Given the description of an element on the screen output the (x, y) to click on. 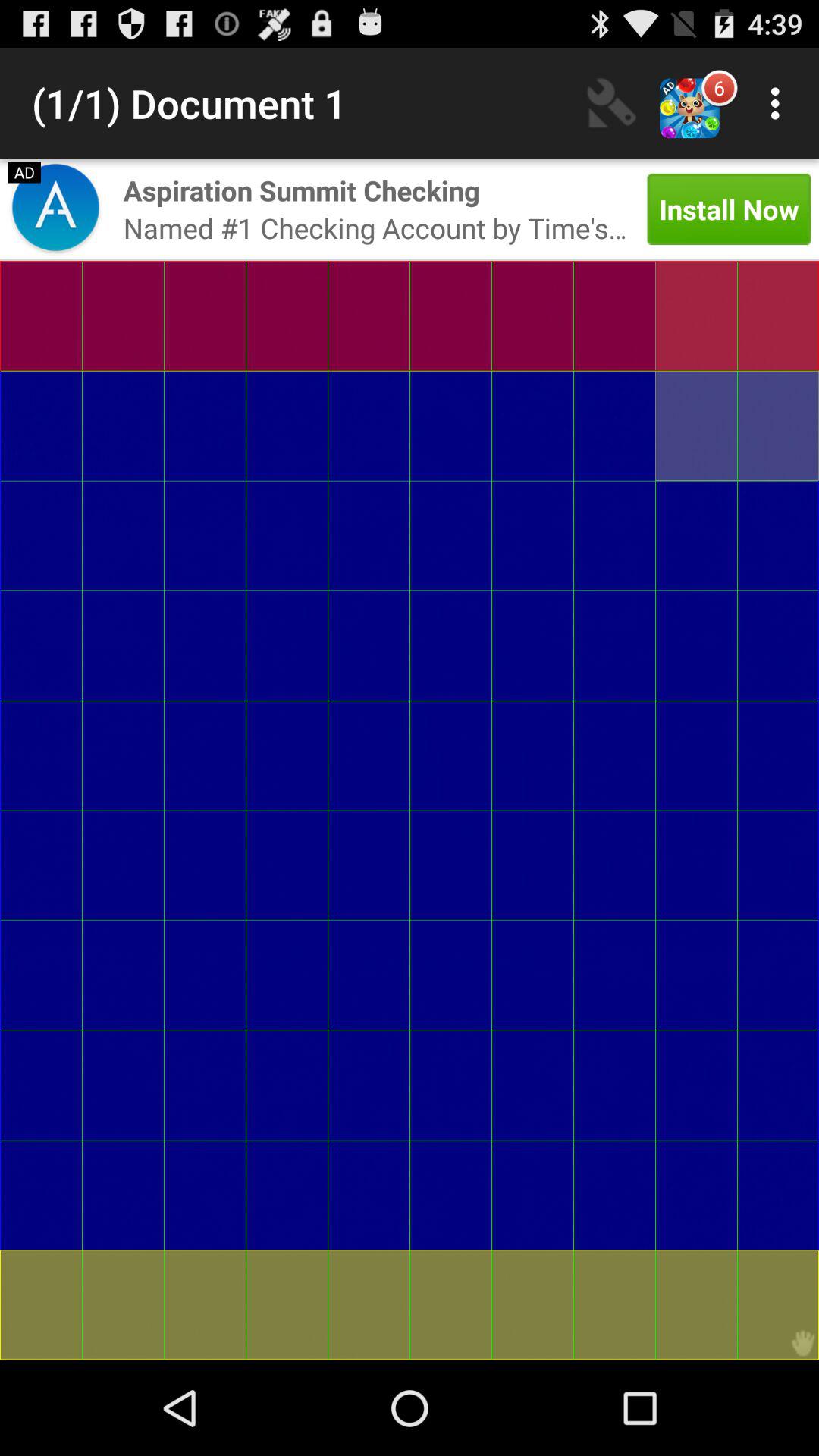
turn off the icon above the install now (779, 103)
